Given the description of an element on the screen output the (x, y) to click on. 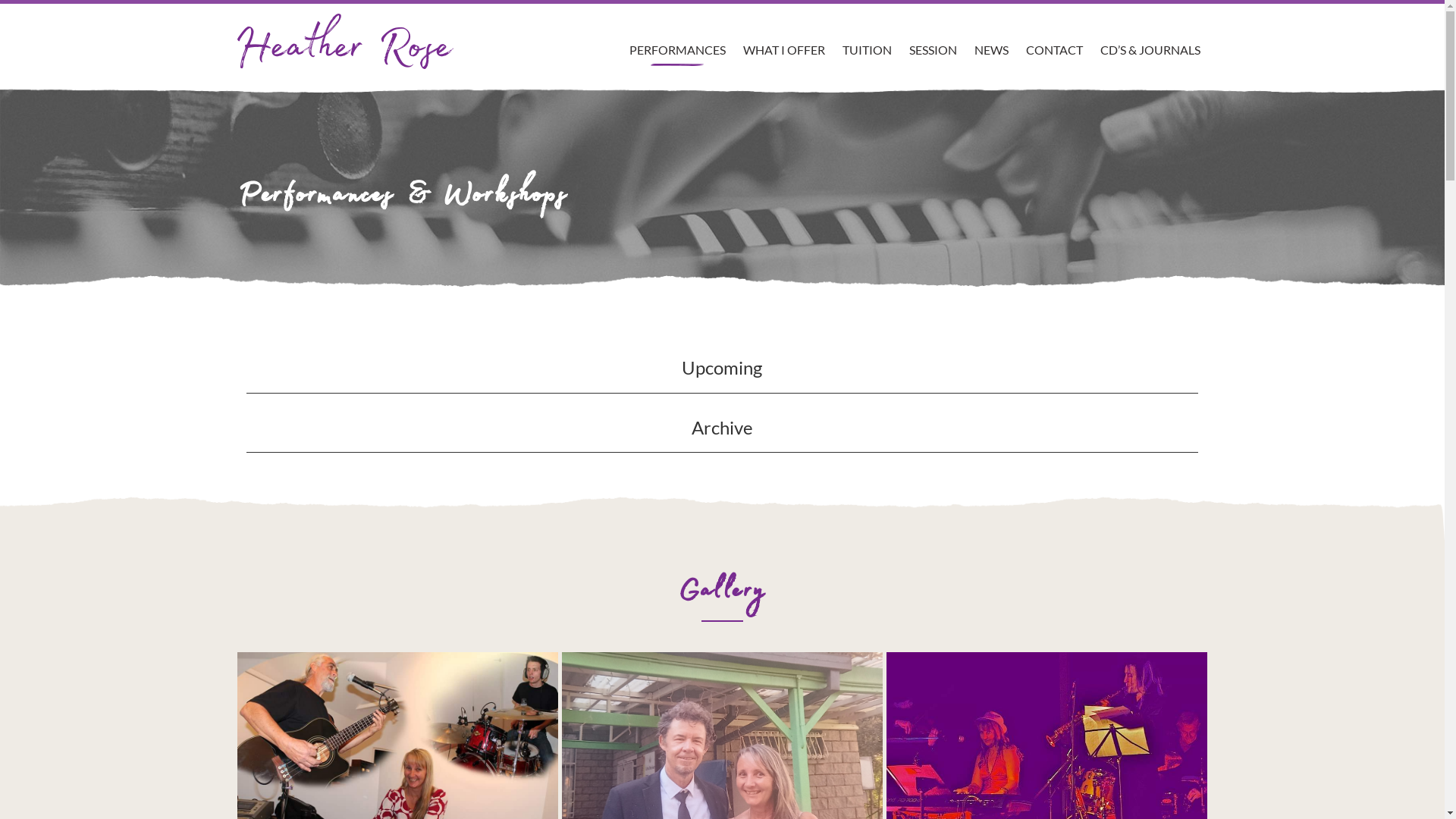
TUITION Element type: text (866, 34)
Archive Element type: text (721, 432)
SESSION Element type: text (931, 34)
Heather Rose Element type: hover (344, 36)
WHAT I OFFER Element type: text (783, 34)
CONTACT Element type: text (1053, 34)
PERFORMANCES Element type: text (677, 34)
Upcoming Element type: text (721, 372)
NEWS Element type: text (990, 34)
